Given the description of an element on the screen output the (x, y) to click on. 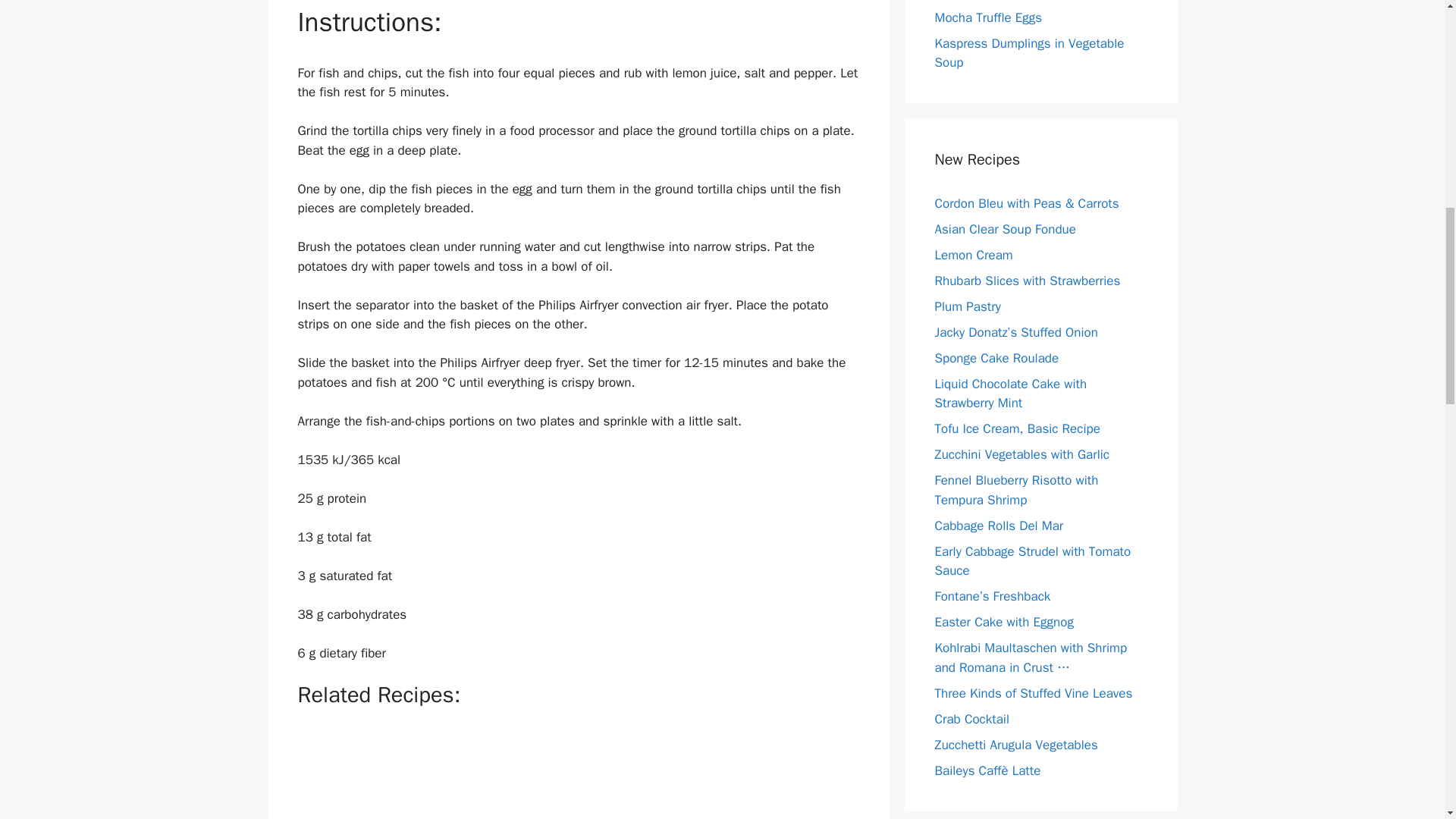
Kaspress Dumplings in Vegetable Soup (1029, 52)
Salmon Fillet Steamed (414, 773)
Fish Solyanka (673, 773)
Mocha Truffle Eggs (988, 17)
